Given the description of an element on the screen output the (x, y) to click on. 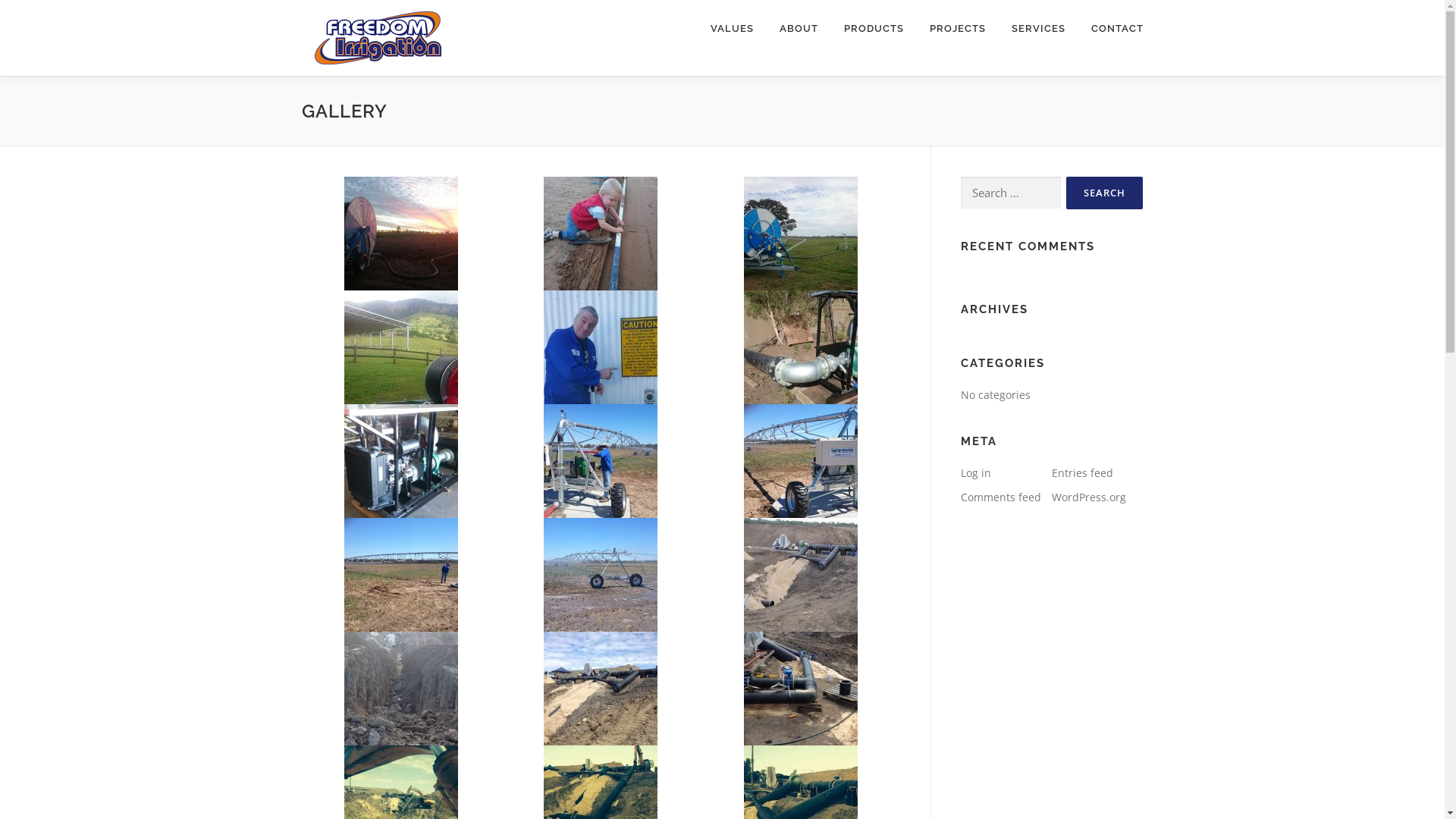
Search Element type: text (1104, 192)
Skip to content Element type: text (37, 9)
VALUES Element type: text (731, 28)
Log in Element type: text (975, 472)
WordPress.org Element type: text (1088, 496)
Entries feed Element type: text (1081, 472)
CONTACT Element type: text (1110, 28)
PRODUCTS Element type: text (873, 28)
SERVICES Element type: text (1037, 28)
ABOUT Element type: text (797, 28)
PROJECTS Element type: text (956, 28)
Comments feed Element type: text (1000, 496)
